Given the description of an element on the screen output the (x, y) to click on. 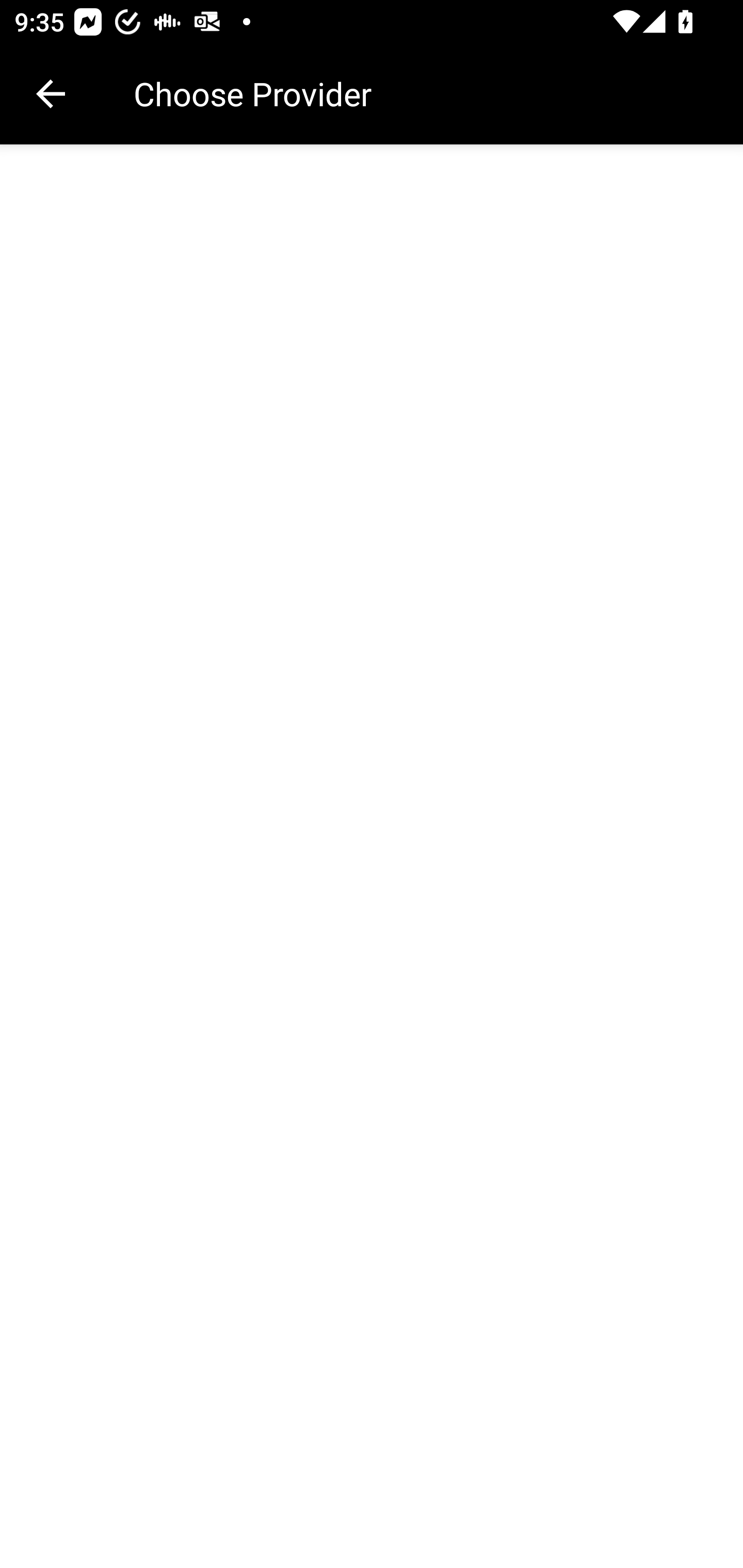
Navigate up (50, 93)
